Given the description of an element on the screen output the (x, y) to click on. 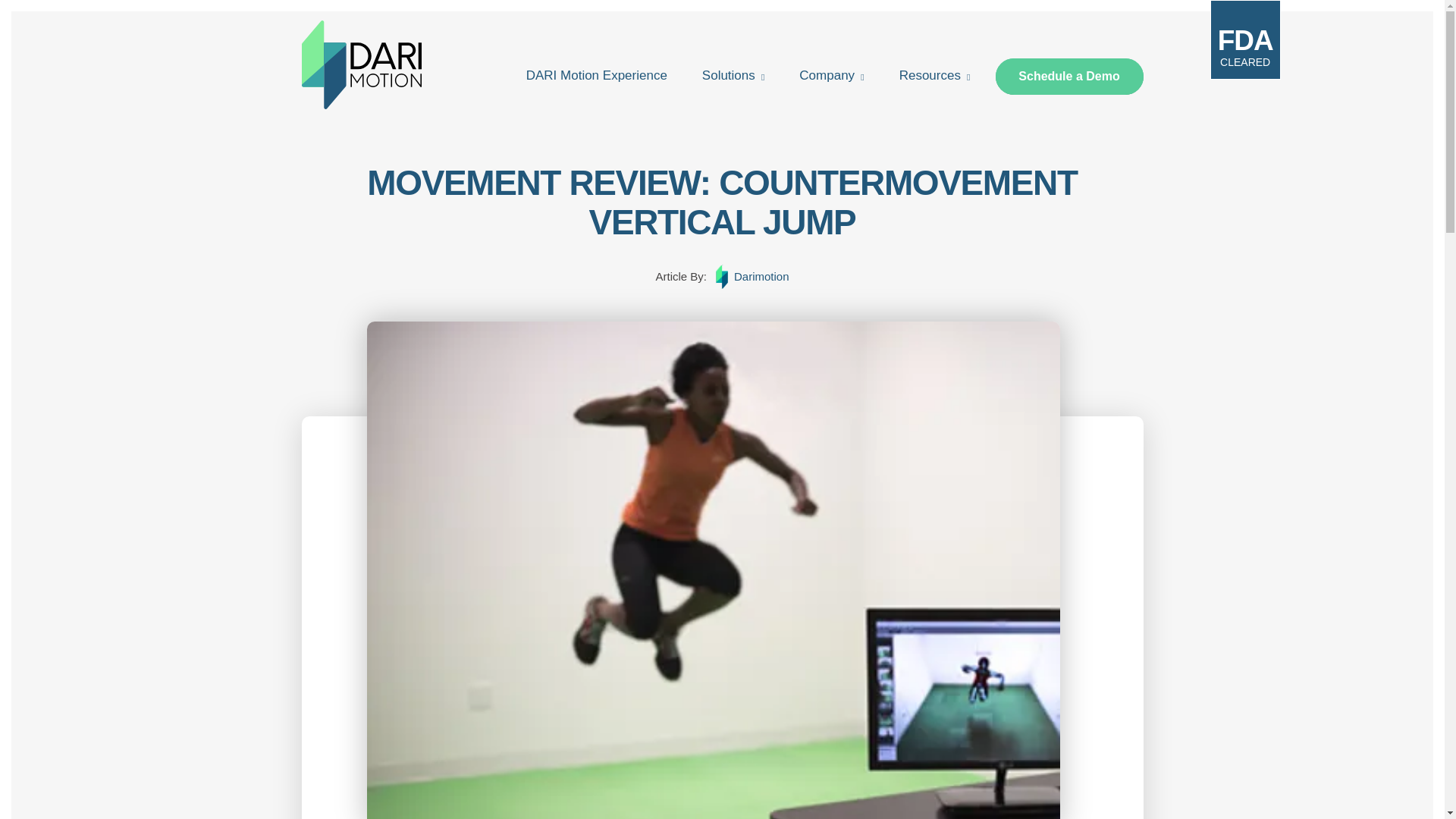
DARI Motion Experience (595, 81)
Resources (929, 81)
Solutions (728, 81)
Schedule a Demo (1068, 75)
Company (826, 81)
